Given the description of an element on the screen output the (x, y) to click on. 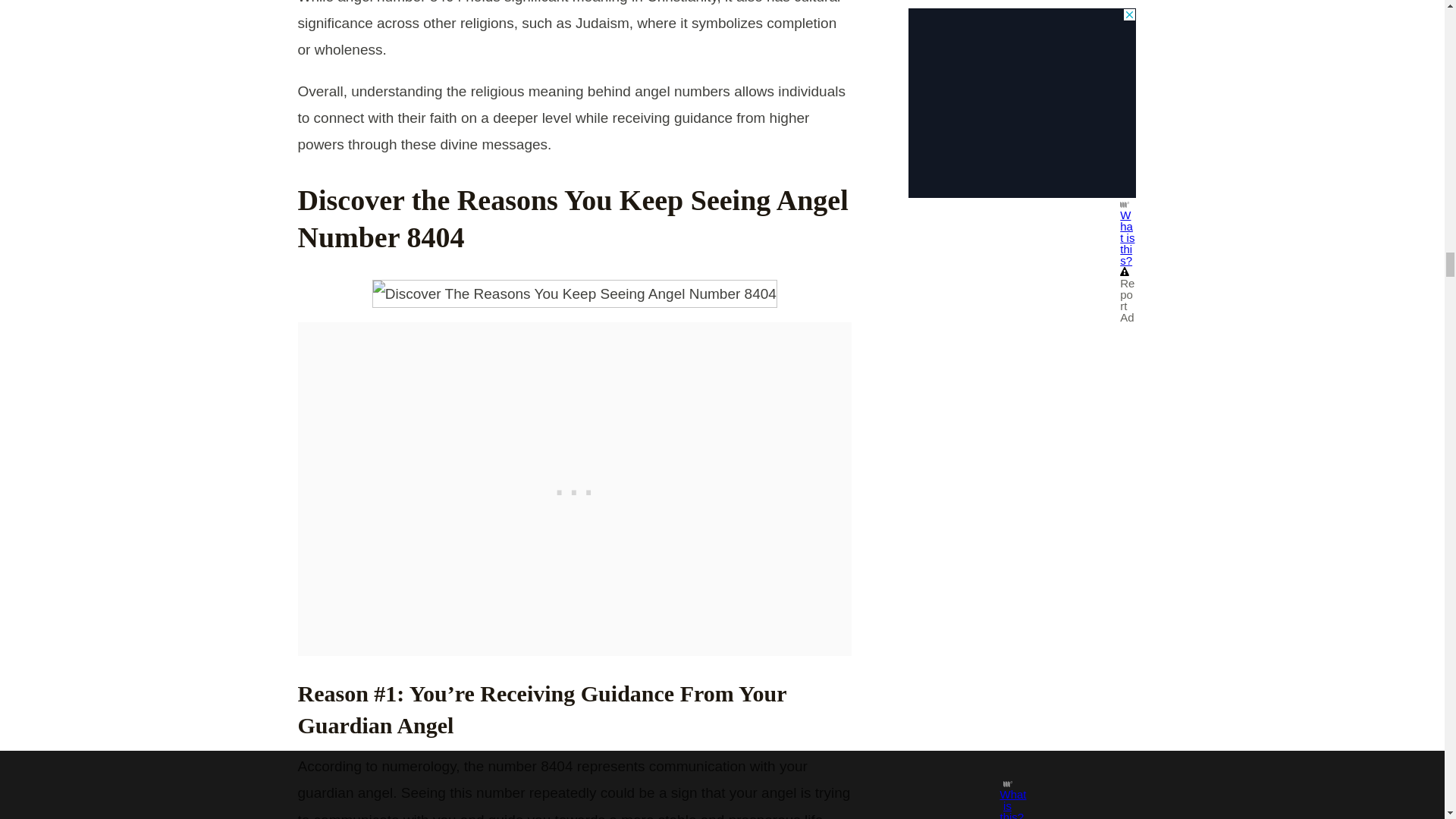
Discover The Reasons You Keep Seeing Angel Number 8404 (574, 293)
